Given the description of an element on the screen output the (x, y) to click on. 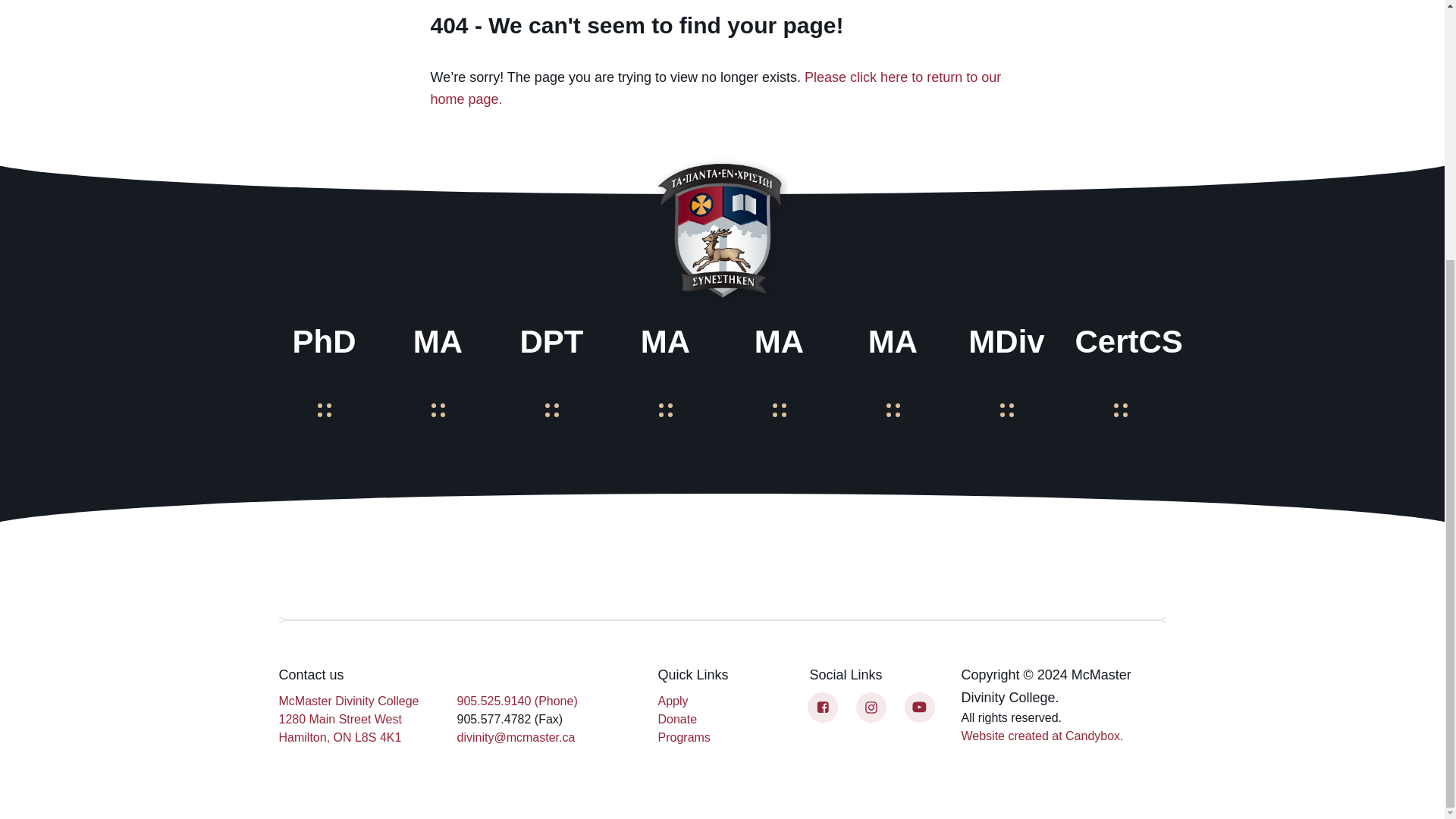
Facebook (821, 707)
Instagram (870, 707)
YouTube (919, 707)
